Given the description of an element on the screen output the (x, y) to click on. 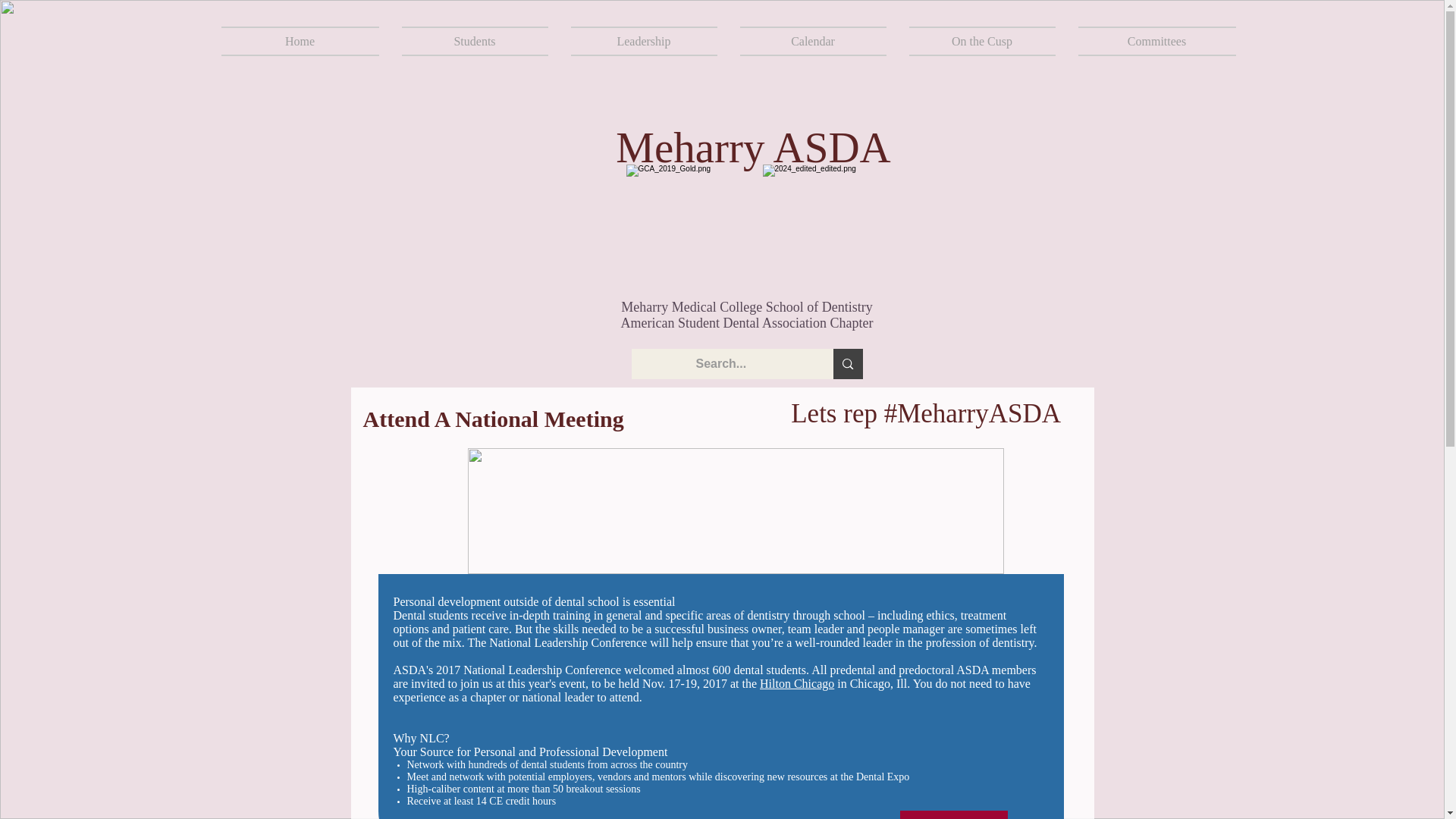
Leadership (644, 41)
On the Cusp (982, 41)
Calendar (812, 41)
Home (305, 41)
Hilton Chicago (797, 683)
Students (474, 41)
Learn More (953, 814)
Committees (1149, 41)
